Given the description of an element on the screen output the (x, y) to click on. 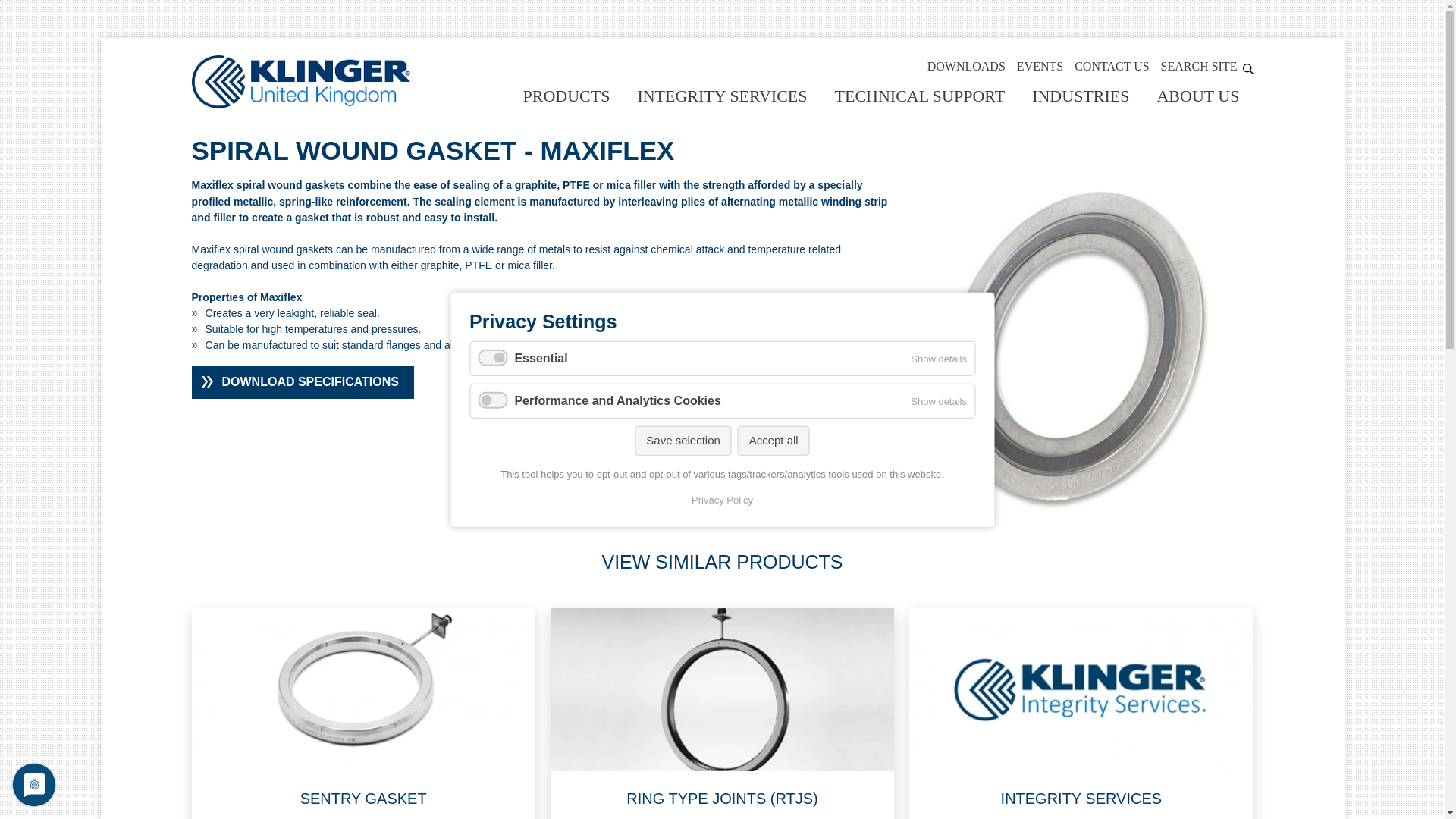
DOWNLOADS (966, 65)
CONTACT US (1111, 65)
SEARCH SITE (1206, 65)
EVENTS (1039, 65)
PRODUCTS (565, 91)
